Given the description of an element on the screen output the (x, y) to click on. 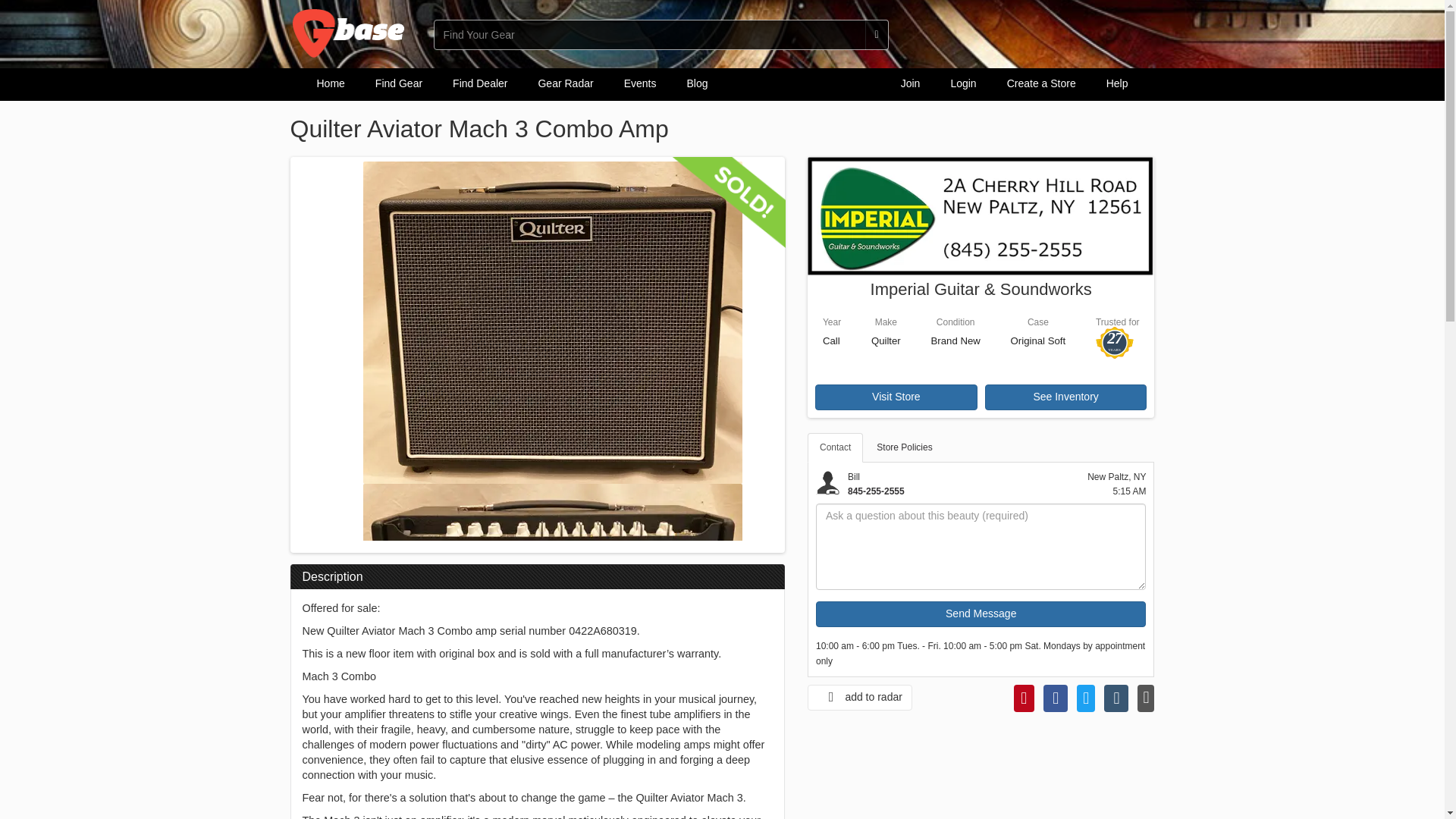
Events (639, 83)
Create a Store (1040, 83)
Home (330, 83)
Join (910, 83)
Login (962, 83)
add to radar (860, 697)
845-255-2555 (875, 491)
Send Message (981, 614)
Blog (696, 83)
Find Gear (398, 83)
Gear Radar (565, 83)
Visit Store (895, 397)
See Inventory (1066, 397)
Store Policies (903, 447)
Help (1116, 83)
